Given the description of an element on the screen output the (x, y) to click on. 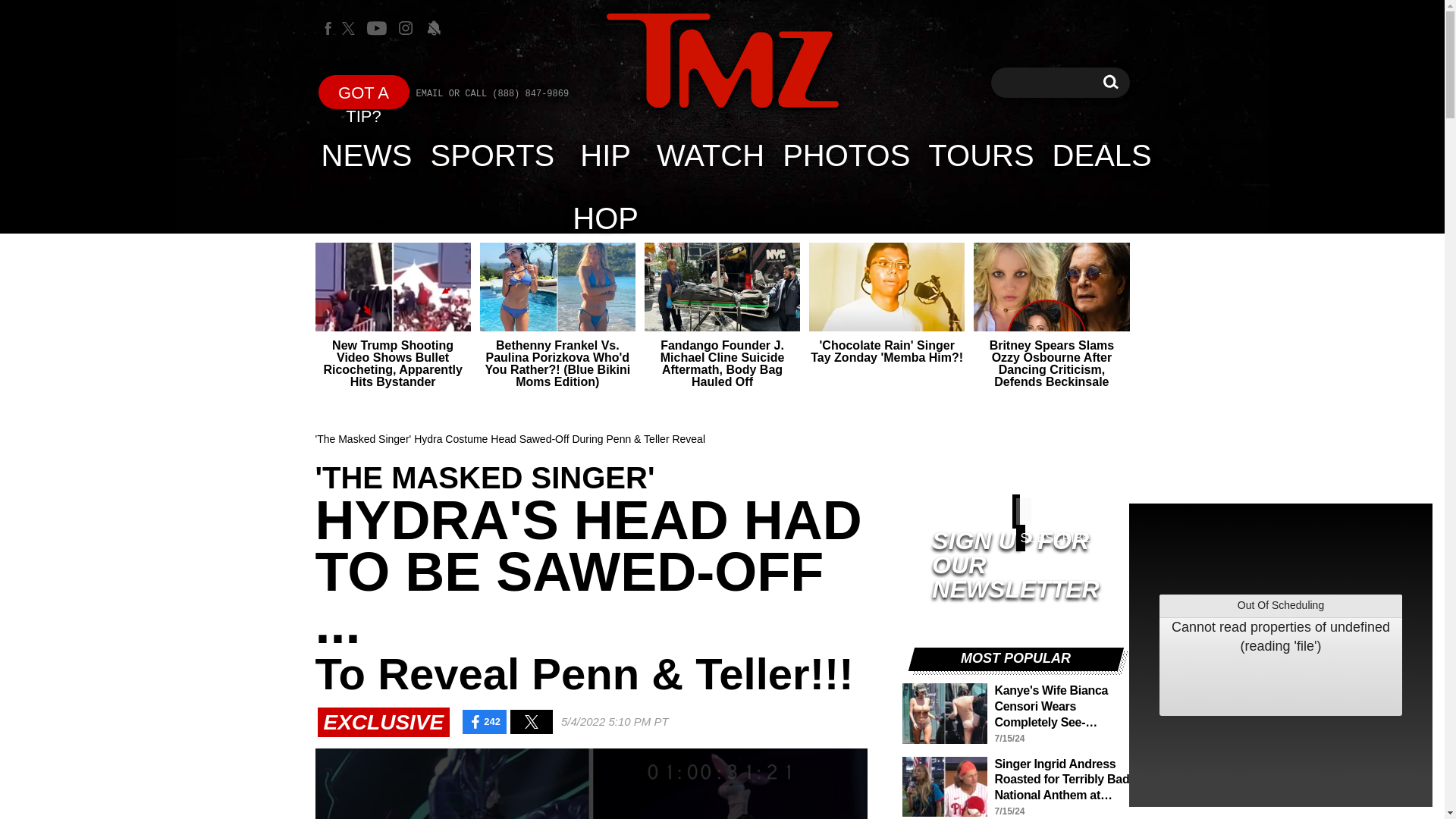
Search (1110, 81)
PHOTOS (845, 154)
SPORTS (493, 154)
NEWS (1110, 82)
TOURS (367, 154)
HIP HOP (980, 154)
GOT A TIP? (605, 154)
TMZ (363, 91)
TMZ (722, 60)
WATCH (722, 62)
DEALS (710, 154)
